Given the description of an element on the screen output the (x, y) to click on. 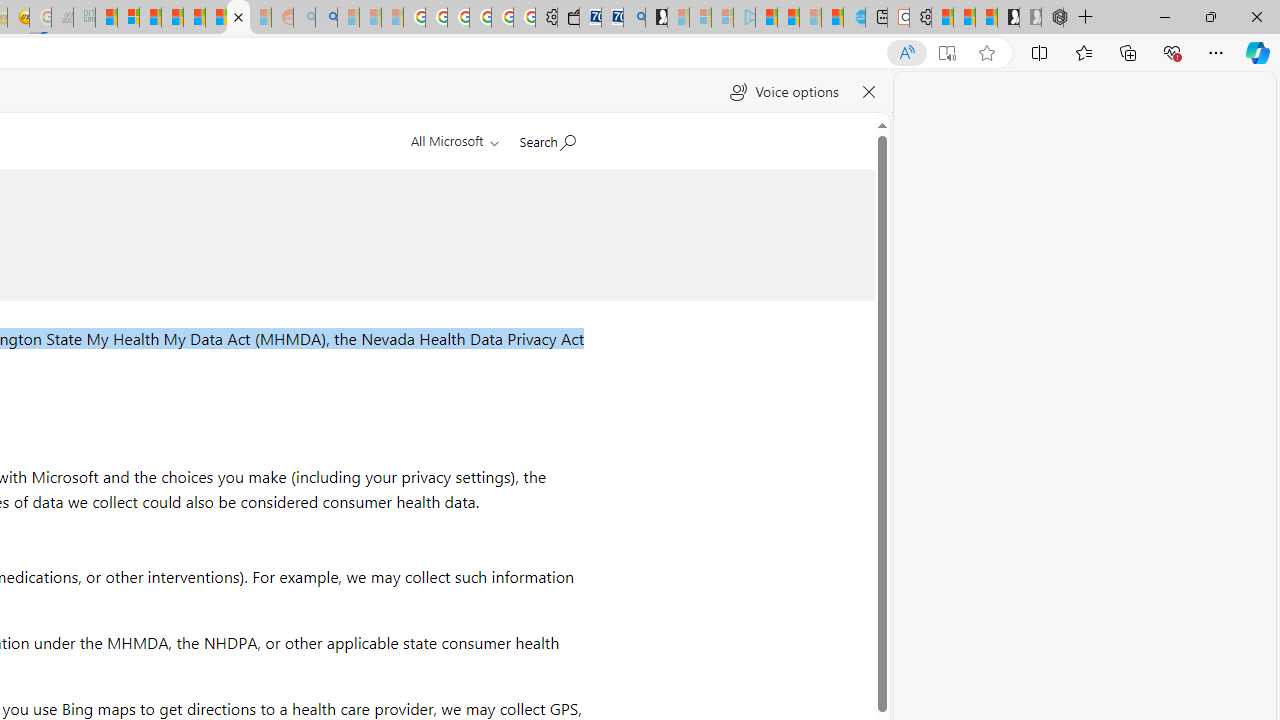
Navy Quest (62, 17)
Close read aloud (868, 92)
Microsoft Start - Sleeping (810, 17)
